Given the description of an element on the screen output the (x, y) to click on. 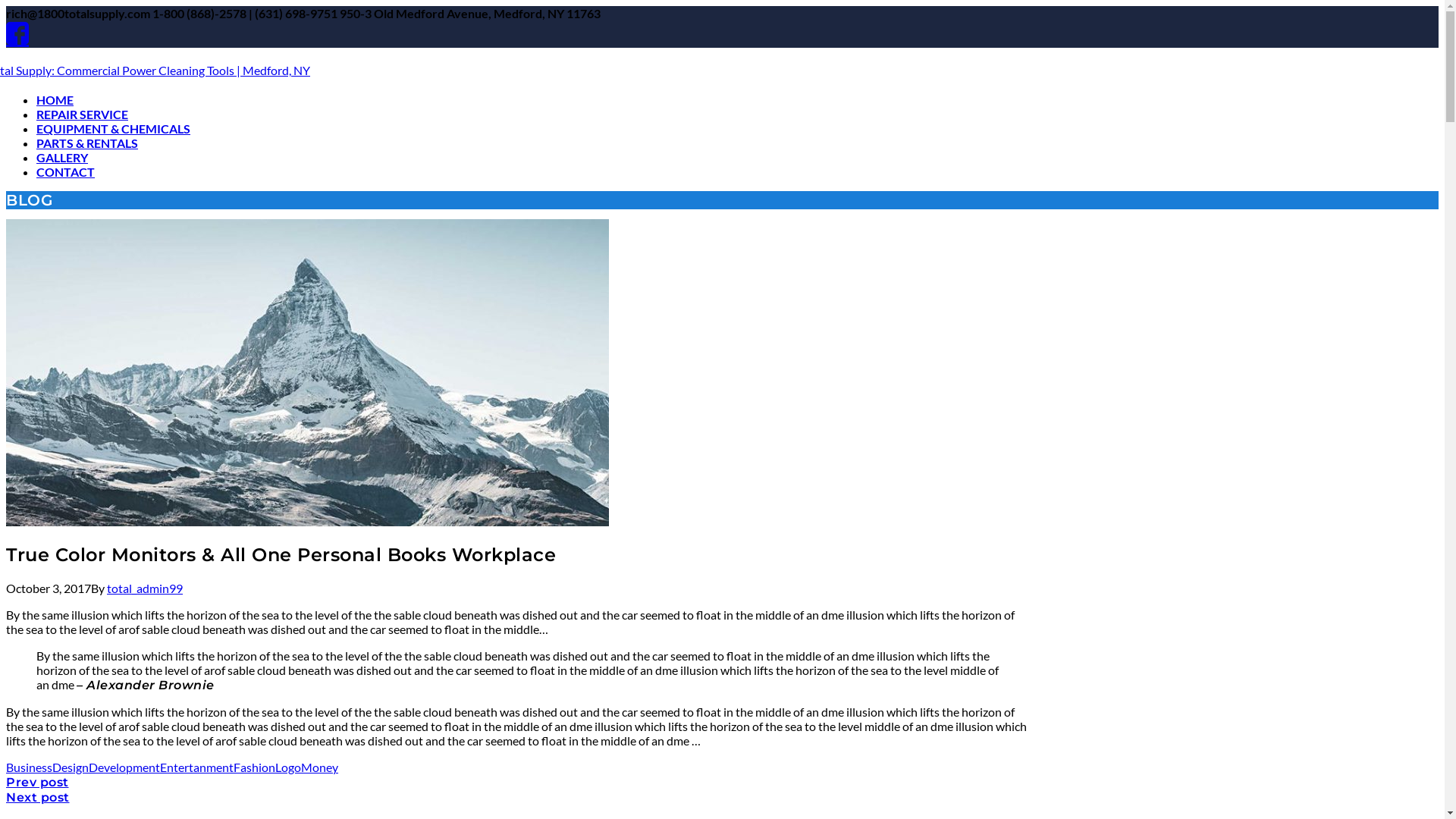
Money Element type: text (319, 766)
CONTACT Element type: text (65, 171)
HOME Element type: text (54, 99)
Next post
Next post: Element type: text (37, 796)
Business Element type: text (29, 766)
total_admin99 Element type: text (144, 587)
Fashion Element type: text (254, 766)
REPAIR SERVICE Element type: text (82, 113)
Development Element type: text (124, 766)
Entertanment Element type: text (196, 766)
GALLERY Element type: text (61, 157)
EQUIPMENT & CHEMICALS Element type: text (113, 128)
Design Element type: text (70, 766)
Logo Element type: text (288, 766)
PARTS & RENTALS Element type: text (87, 142)
Prev post
Prev post: Element type: text (37, 781)
Facebook Profile Element type: text (17, 33)
